Given the description of an element on the screen output the (x, y) to click on. 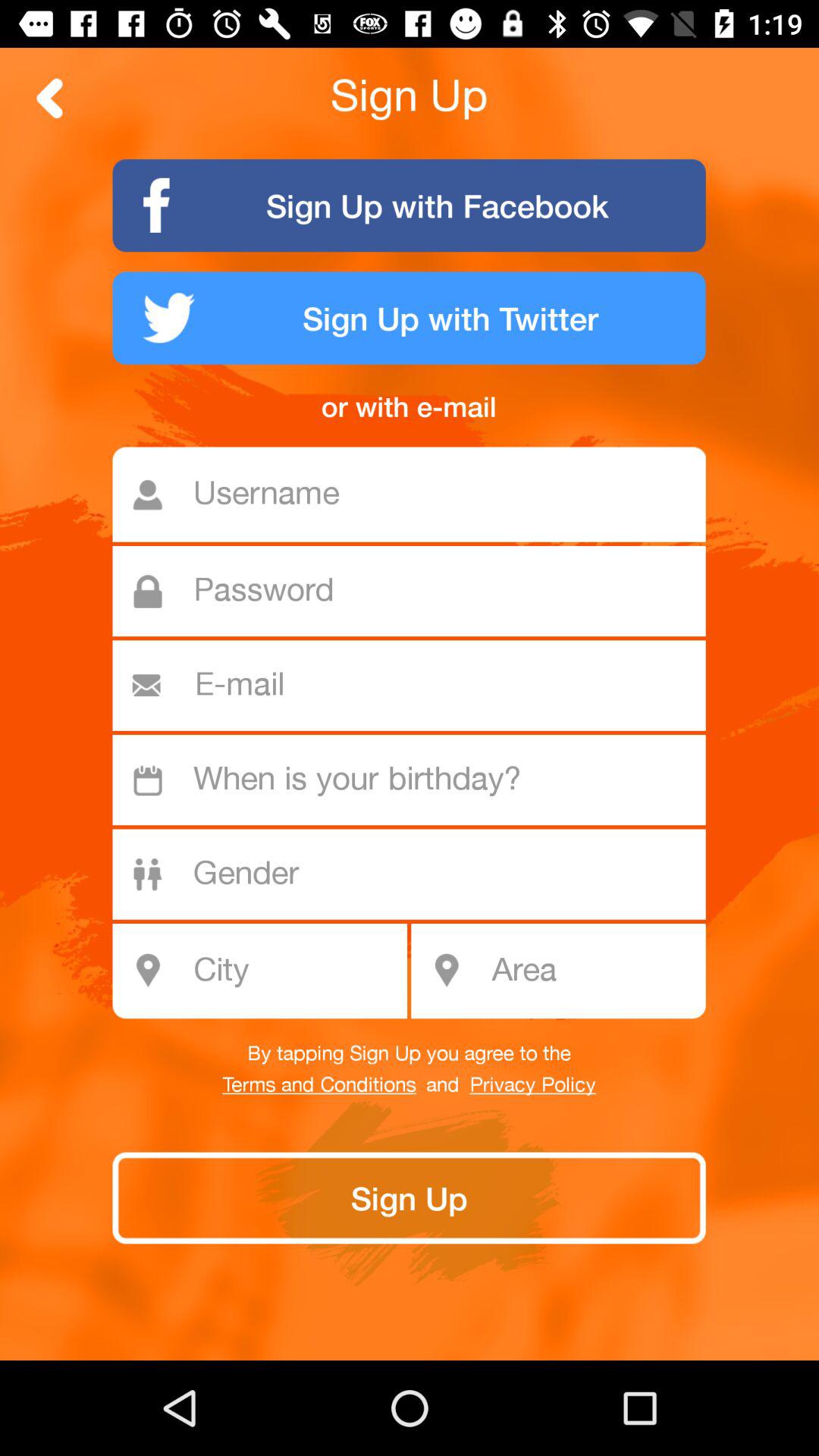
select gender (417, 874)
